Given the description of an element on the screen output the (x, y) to click on. 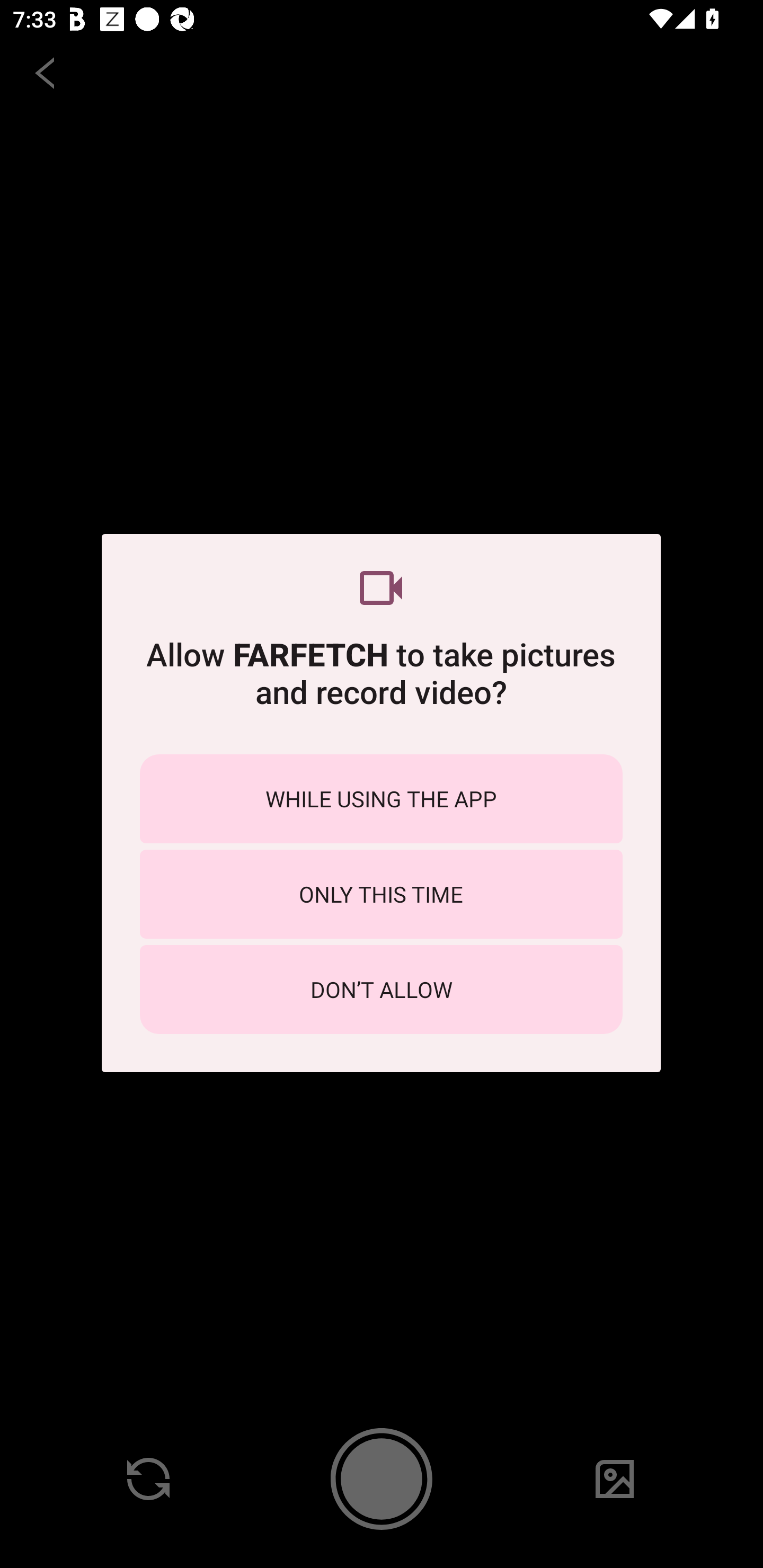
WHILE USING THE APP (380, 798)
ONLY THIS TIME (380, 894)
DON’T ALLOW (380, 989)
